Given the description of an element on the screen output the (x, y) to click on. 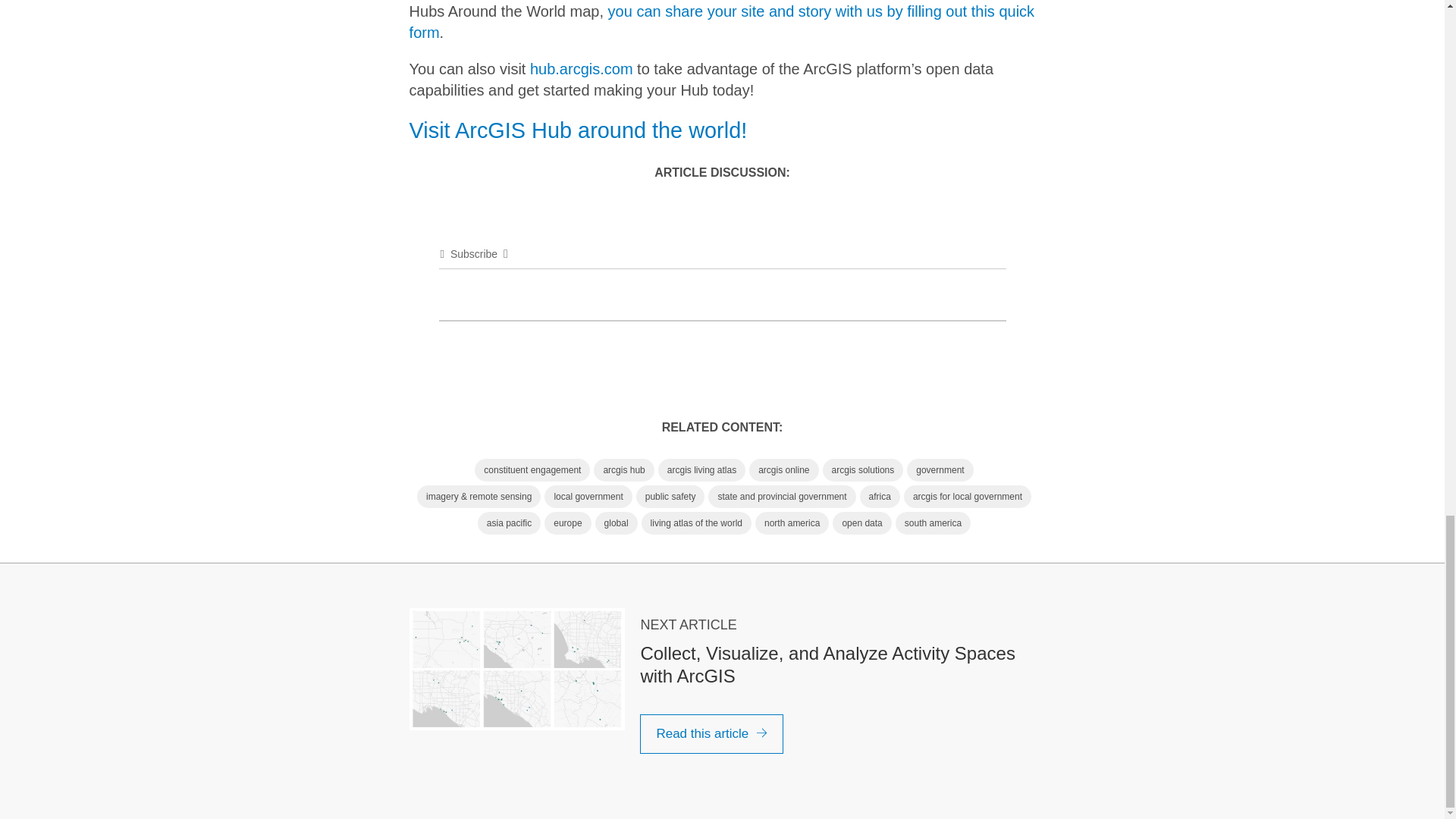
arcgis solutions (863, 469)
arcgis online (783, 469)
arcgis living atlas (701, 469)
arcgis hub (623, 469)
hub.arcgis.com (581, 68)
constituent engagement (531, 469)
Visit ArcGIS Hub around the world! (578, 129)
local government (587, 496)
government (939, 469)
